Given the description of an element on the screen output the (x, y) to click on. 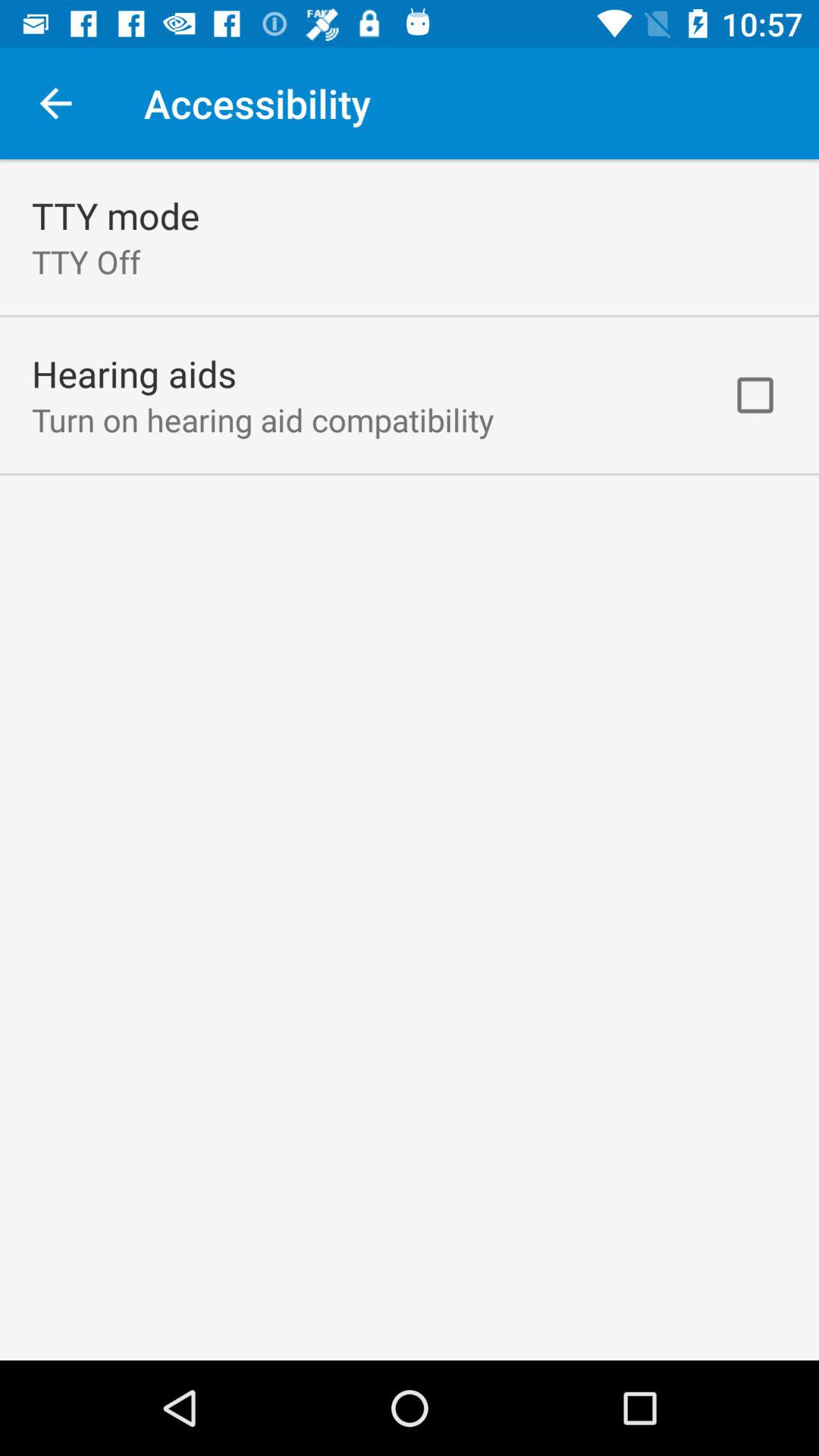
turn on icon above tty off app (115, 215)
